Given the description of an element on the screen output the (x, y) to click on. 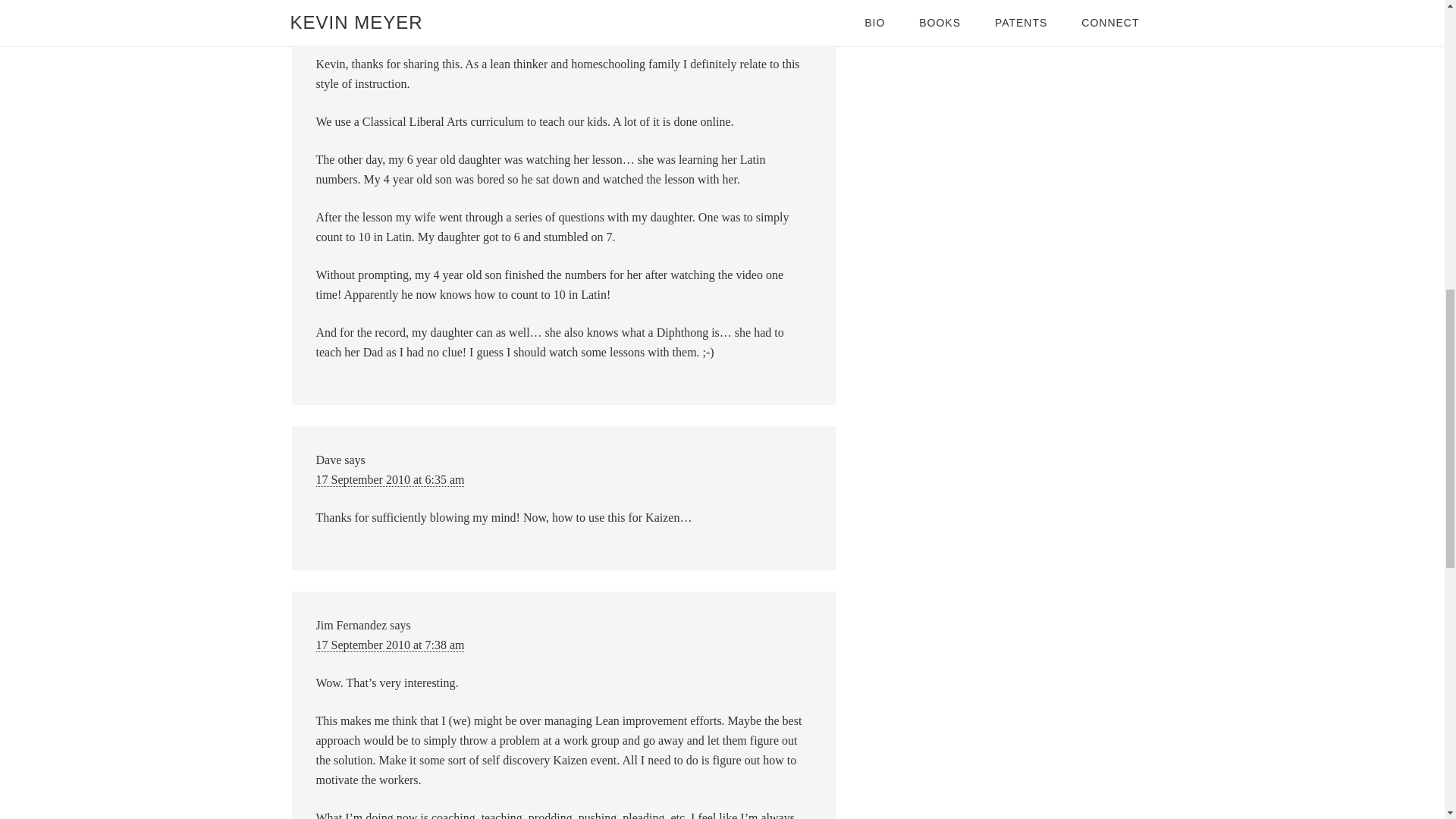
17 September 2010 at 6:35 am (389, 479)
Ron Pereira (343, 6)
17 September 2010 at 5:31 am (389, 26)
17 September 2010 at 7:38 am (389, 644)
